Given the description of an element on the screen output the (x, y) to click on. 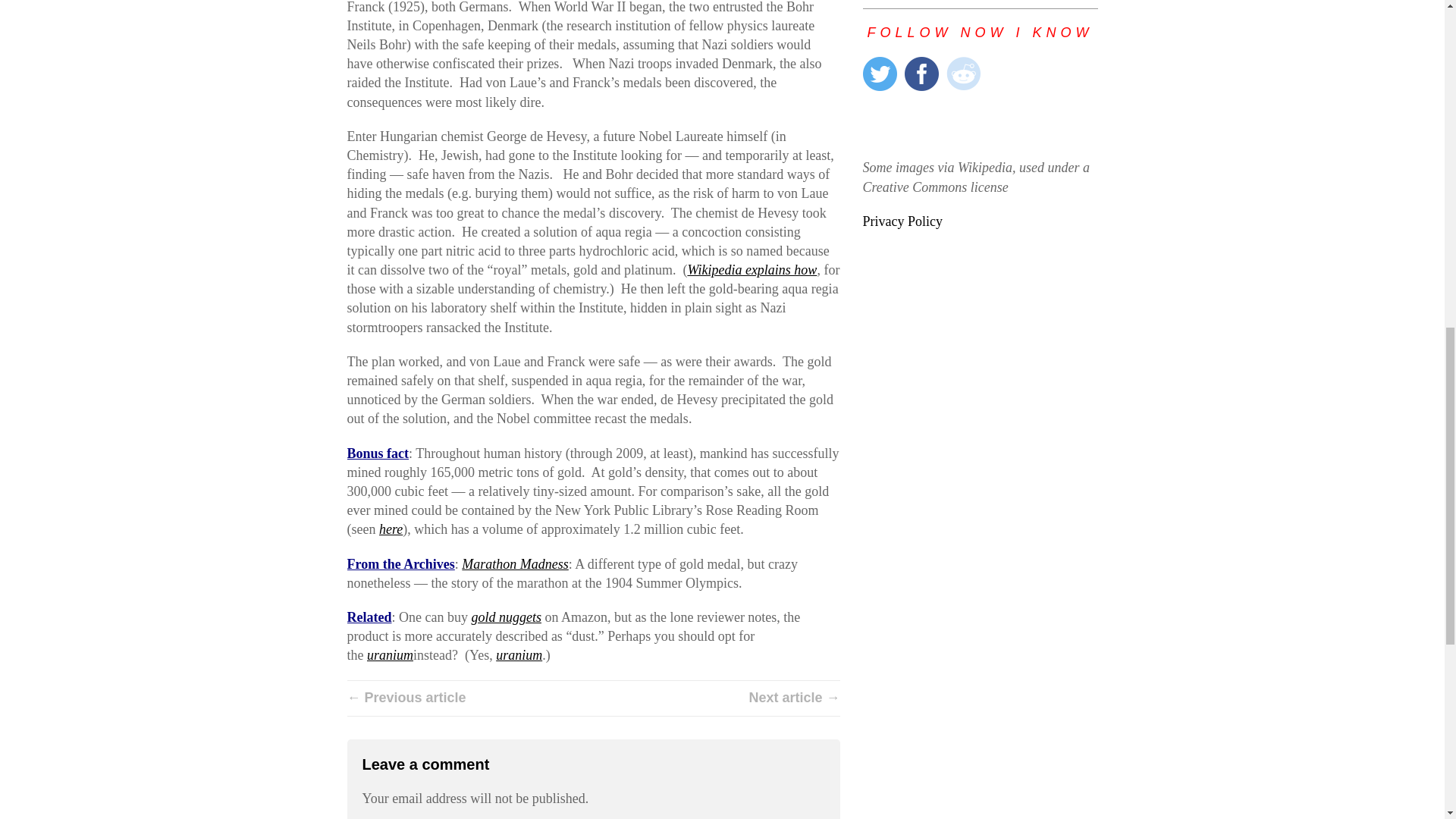
here (390, 529)
Marathon Madness (515, 563)
uranium (518, 654)
gold nuggets (505, 616)
Privacy Policy (903, 221)
Wikipedia explains how (751, 269)
uranium (389, 654)
